Given the description of an element on the screen output the (x, y) to click on. 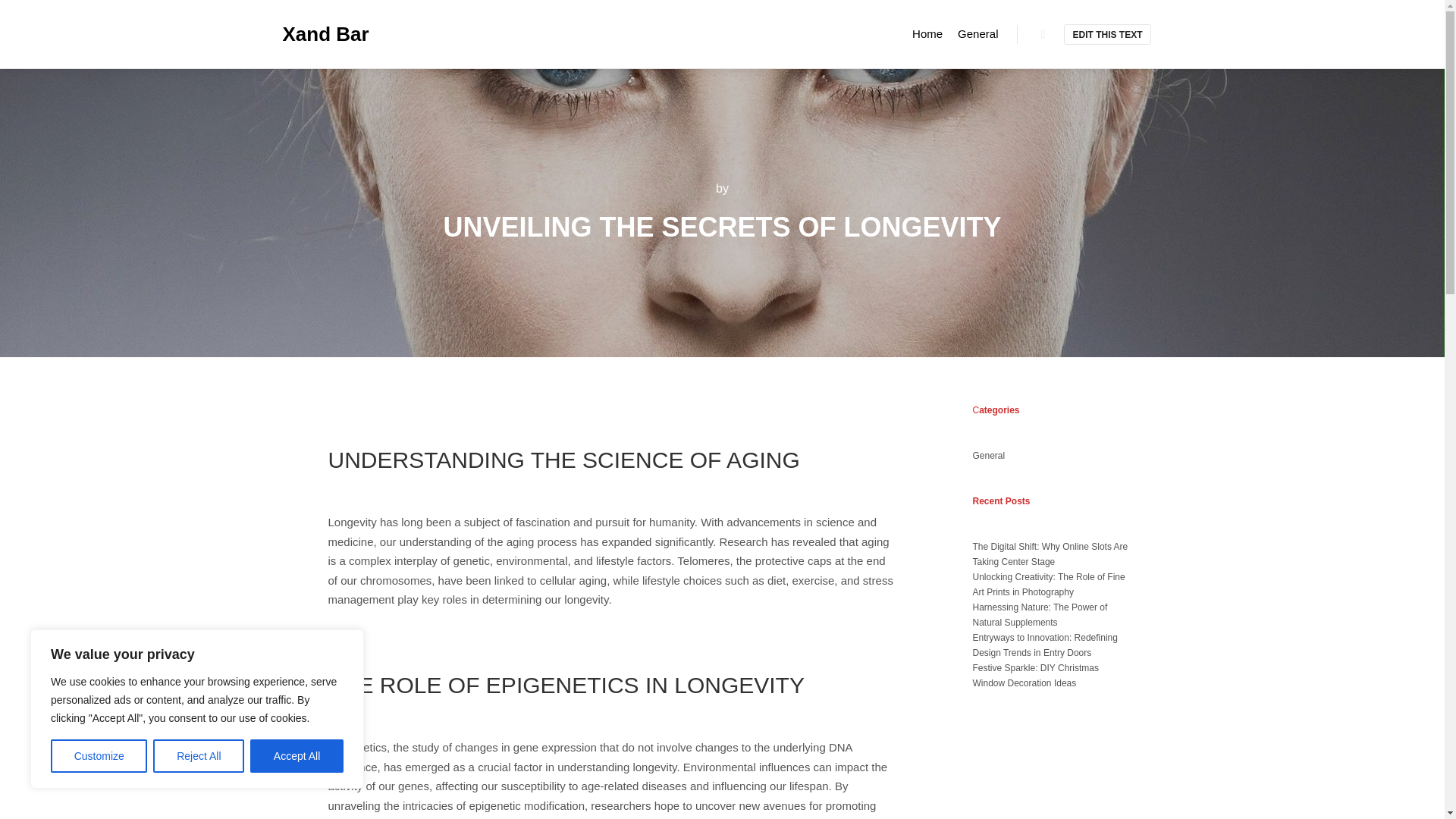
Reject All (198, 756)
Search (1043, 34)
EDIT THIS TEXT (1107, 34)
Festive Sparkle: DIY Christmas Window Decoration Ideas (1035, 675)
The Digital Shift: Why Online Slots Are Taking Center Stage (1049, 554)
General (988, 455)
Accept All (296, 756)
Customize (98, 756)
